Given the description of an element on the screen output the (x, y) to click on. 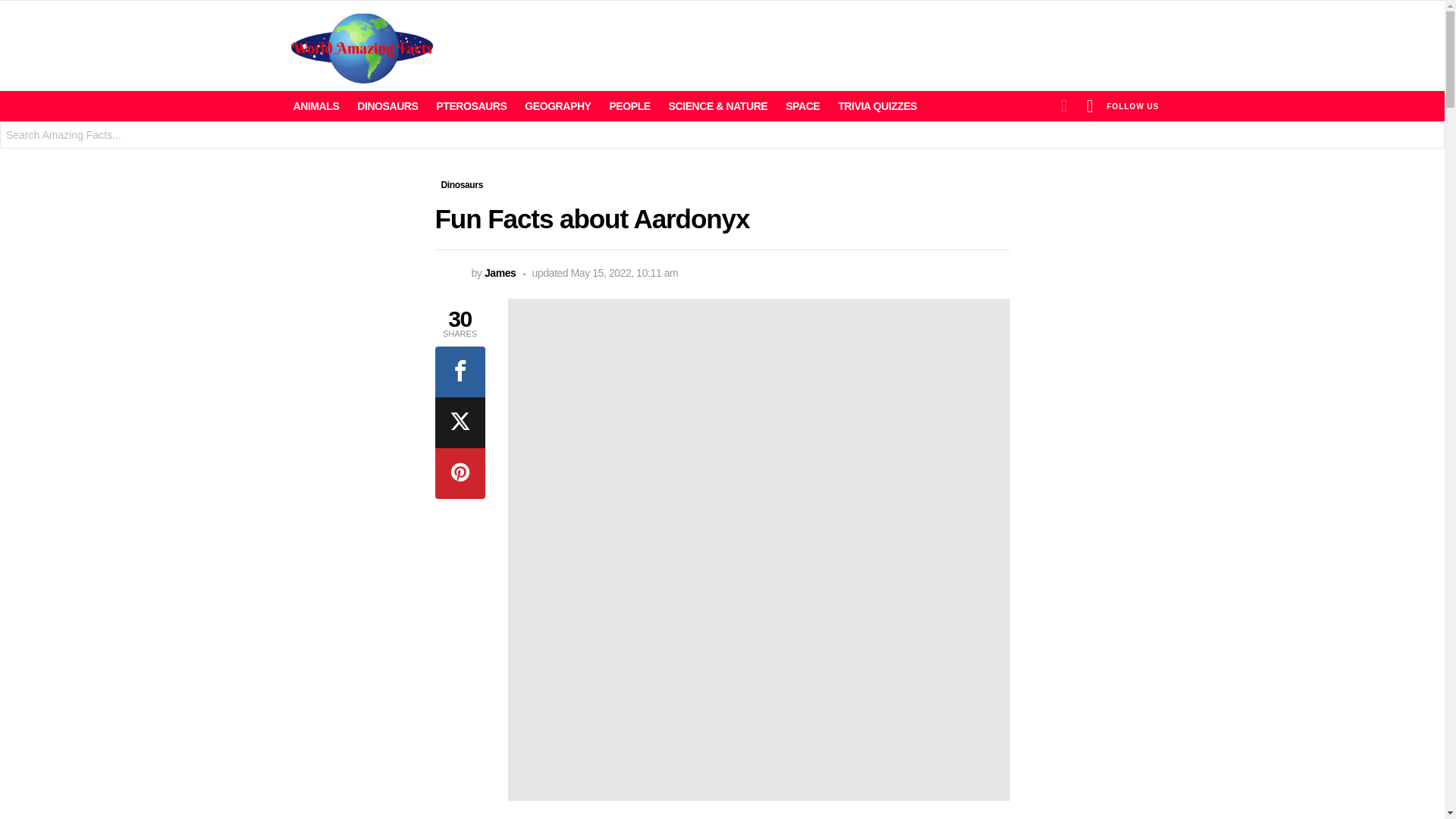
GEOGRAPHY (557, 106)
ANIMALS (315, 106)
PEOPLE (629, 106)
James (500, 272)
Posts by James (500, 272)
PTEROSAURS (470, 106)
DINOSAURS (387, 106)
TRIVIA QUIZZES (876, 106)
SPACE (802, 106)
FOLLOW US (1132, 105)
